Given the description of an element on the screen output the (x, y) to click on. 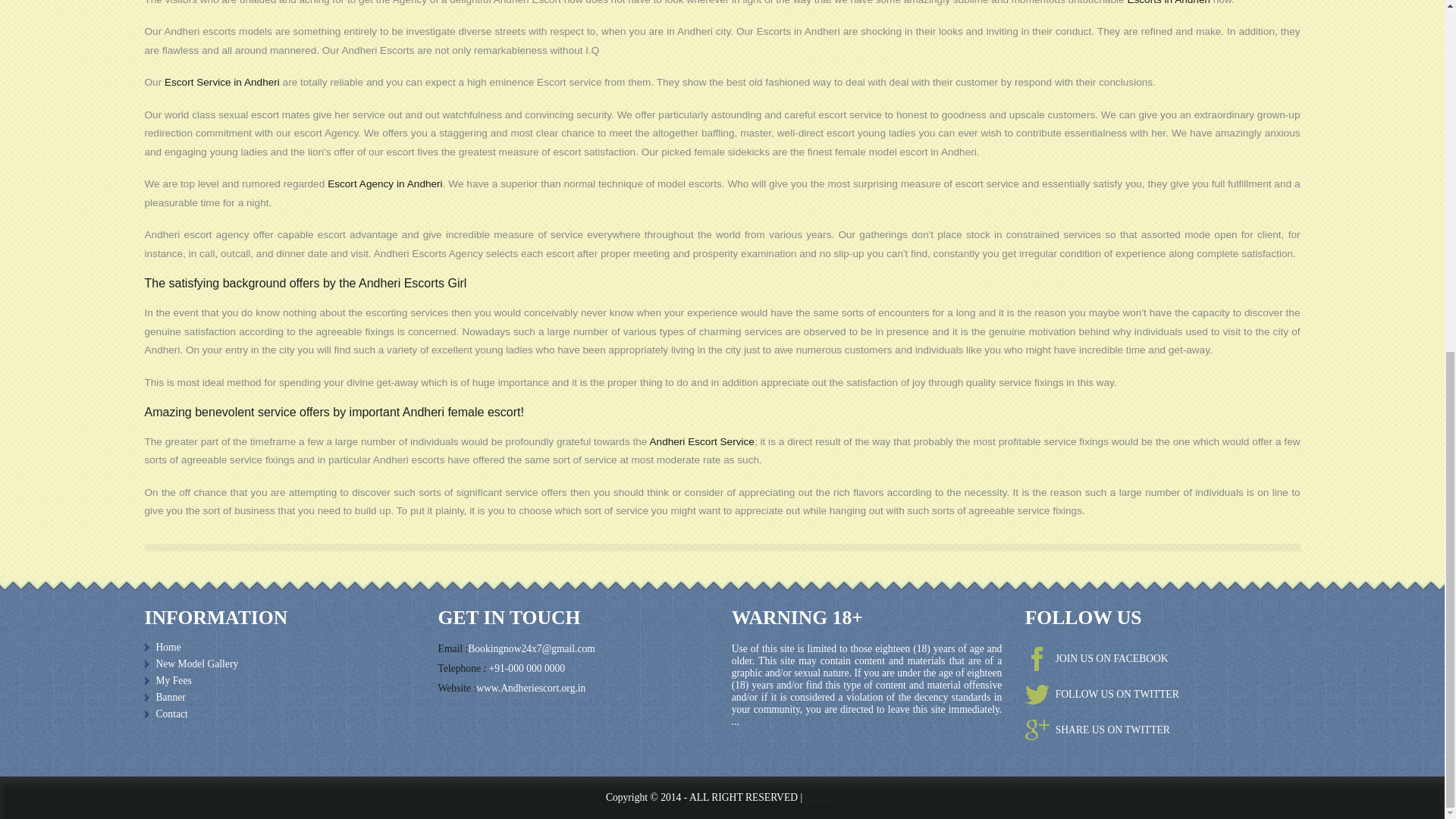
FOLLOW US ON TWITTER (1117, 694)
Escort Service in Andheri (221, 81)
Andheri Escort Service (701, 441)
Independent Escorts Andheri Escort (279, 664)
Escort Agency in Andheri (384, 183)
New Model Gallery (279, 664)
Andheri Escort Fees (279, 680)
Banner (279, 697)
Sitemap (822, 797)
Escorts in Andheri (1167, 2)
Banner Exchange (279, 697)
Contact Andheri Escort (279, 713)
Contact (279, 713)
Home (279, 647)
Home (279, 647)
